Given the description of an element on the screen output the (x, y) to click on. 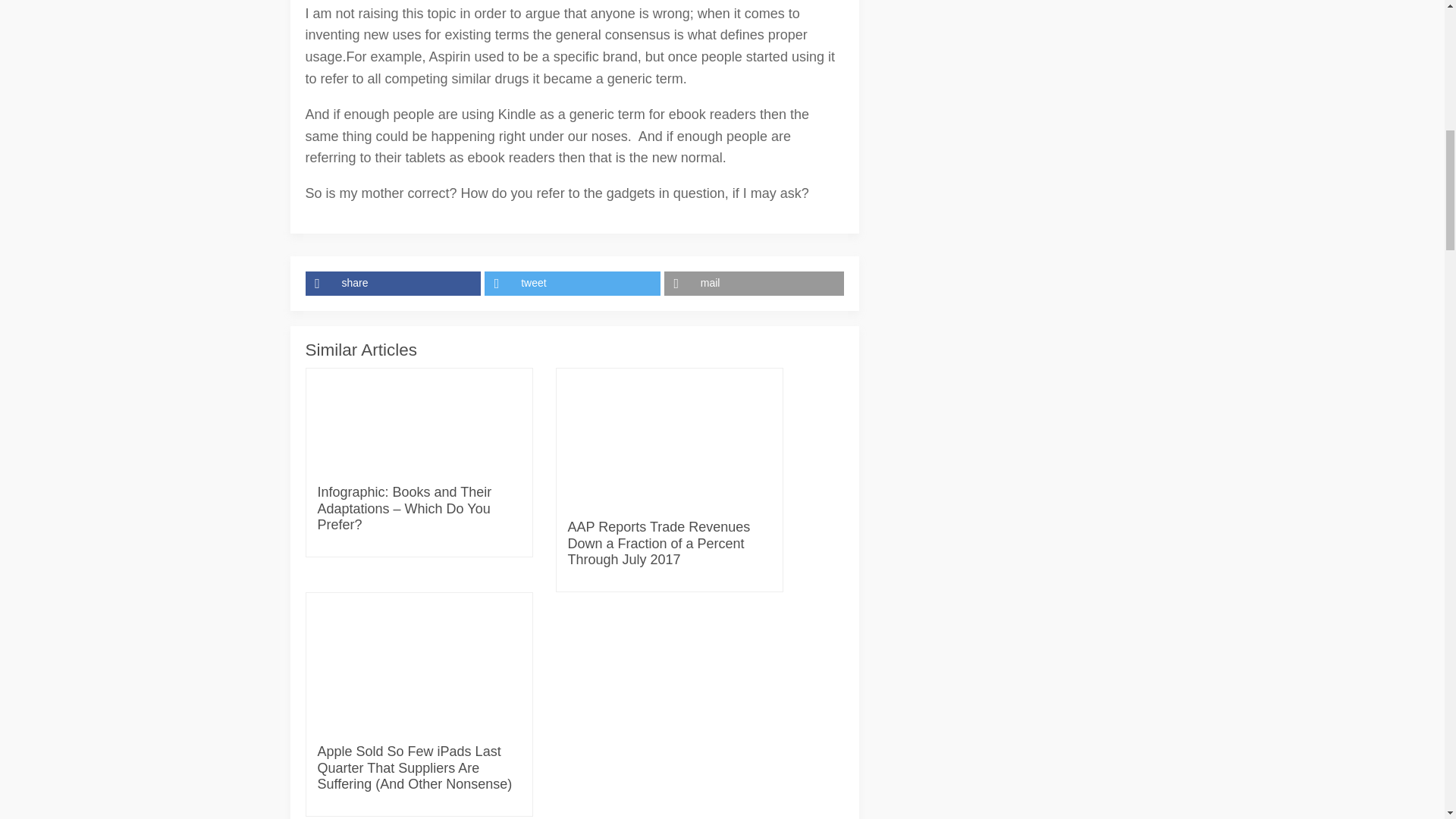
tweet (573, 283)
share (394, 283)
mail (753, 283)
